Given the description of an element on the screen output the (x, y) to click on. 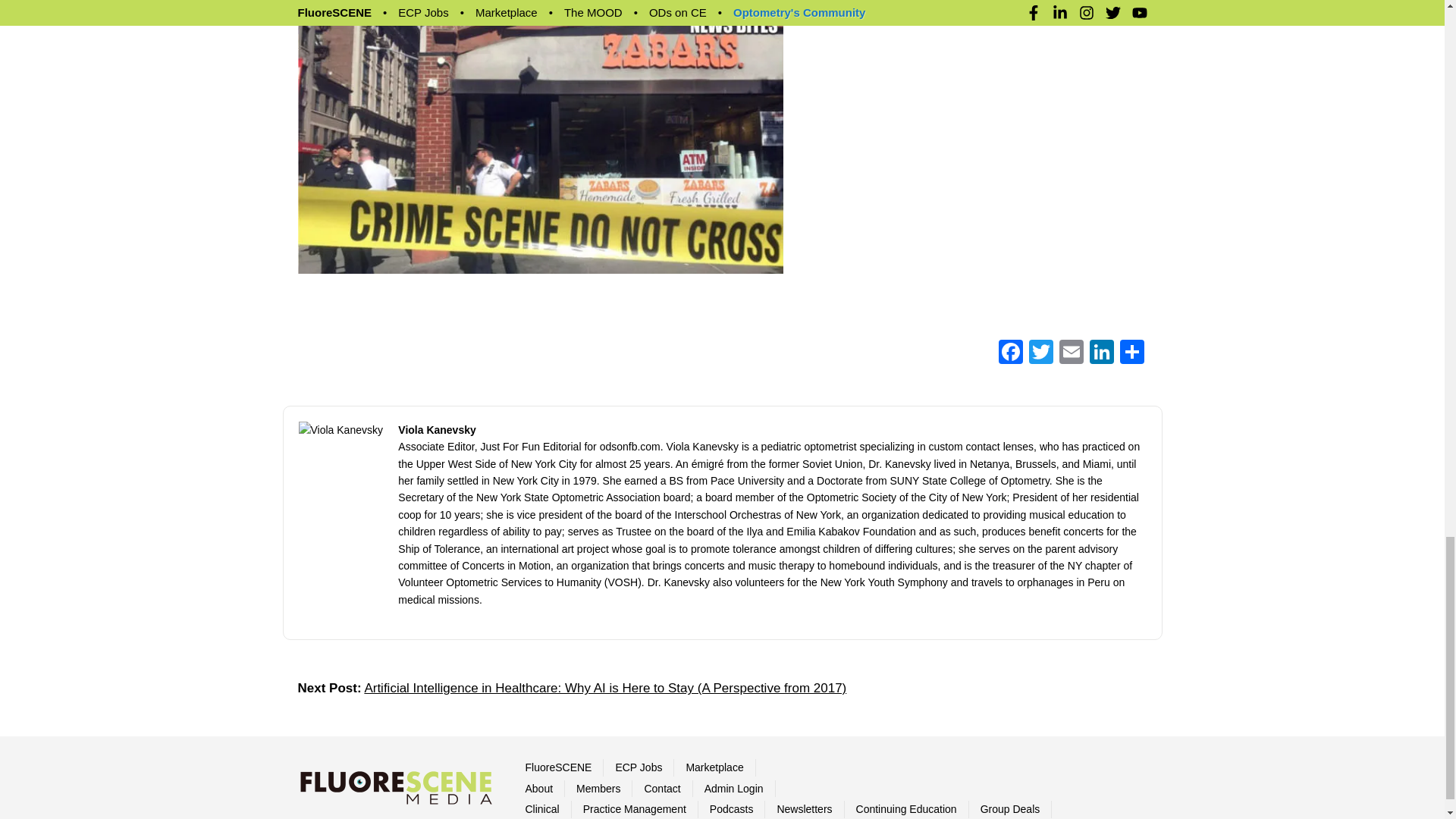
Podcasts (732, 784)
FluoreSCENE (557, 742)
Practice Management (634, 784)
Members (598, 762)
Contact (661, 762)
ECP Jobs (638, 742)
Marketplace (713, 742)
Admin Login (733, 762)
About (538, 762)
Continuing Education (906, 784)
Clinical (541, 784)
Newsletters (803, 784)
